Given the description of an element on the screen output the (x, y) to click on. 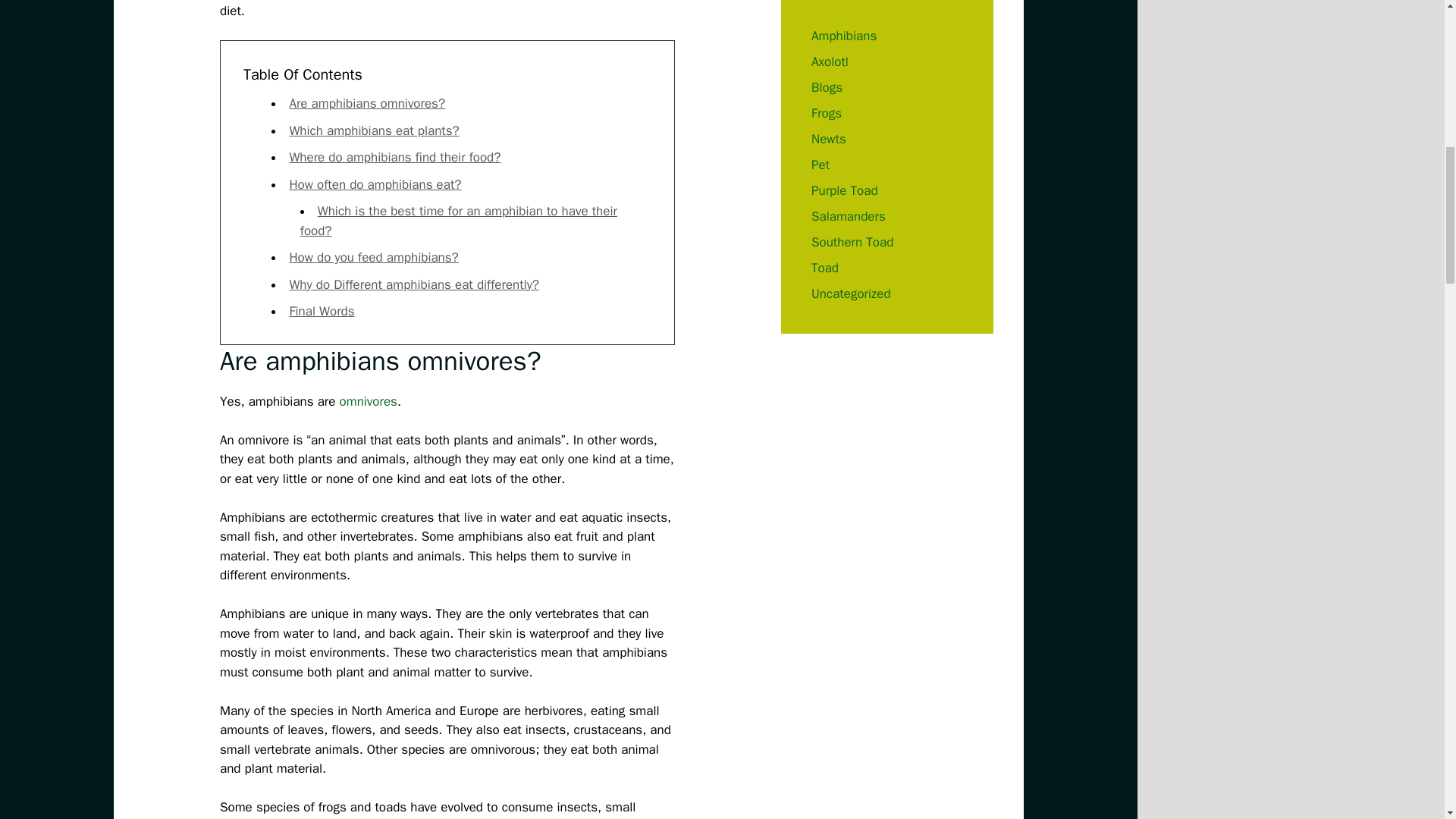
Are amphibians omnivores? (366, 103)
Frogs (825, 112)
Which is the best time for an amphibian to have their food? (458, 221)
How often do amphibians eat? (374, 183)
omnivores (368, 400)
Axolotl (829, 60)
Amphibians (843, 35)
Final Words (320, 311)
Newts (827, 138)
Blogs (826, 86)
Which amphibians eat plants? (373, 130)
Why do Different amphibians eat differently? (413, 283)
Where do amphibians find their food? (394, 157)
How do you feed amphibians? (373, 257)
